Given the description of an element on the screen output the (x, y) to click on. 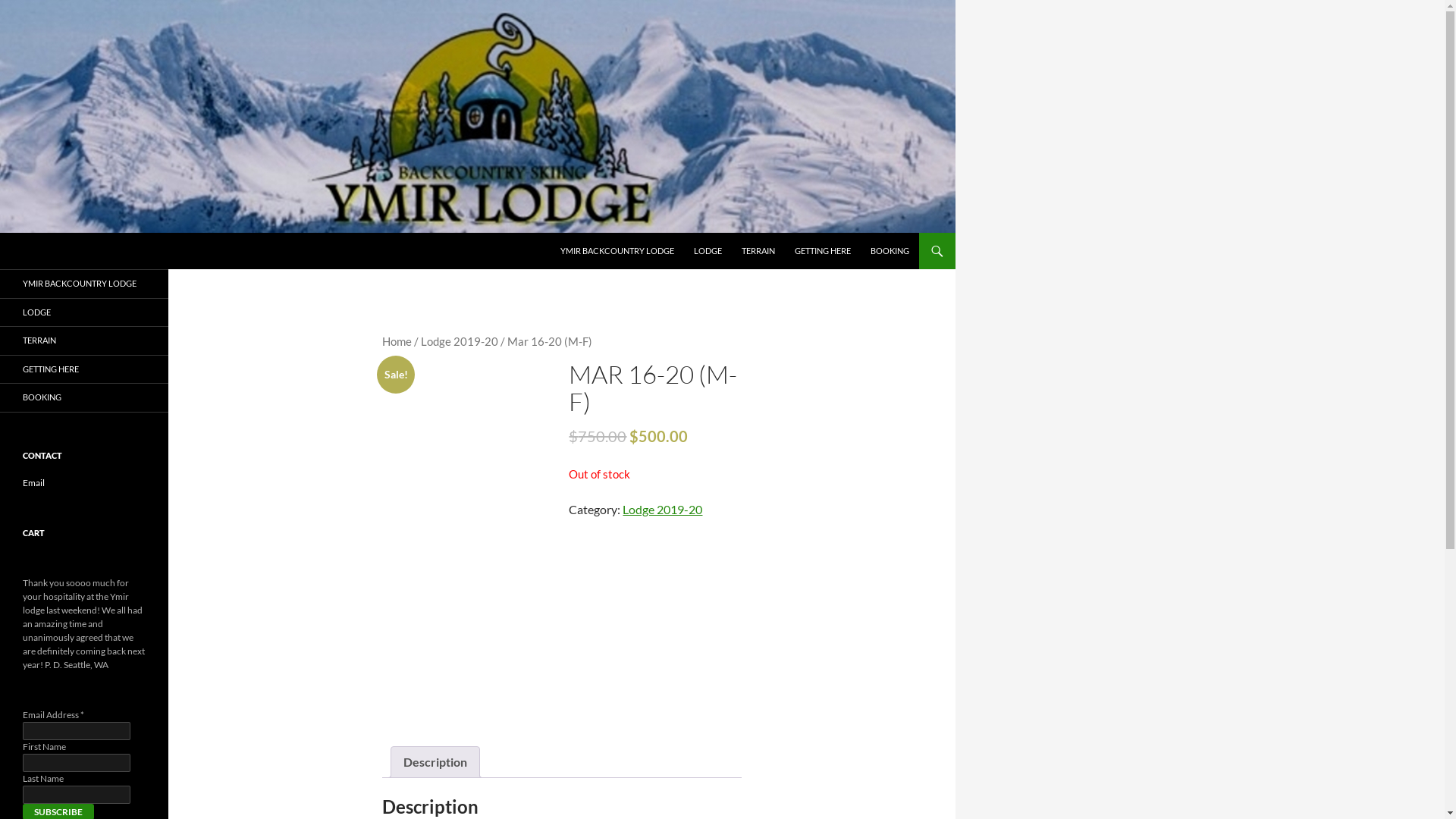
Ymir Backcountry Ski Lodge Element type: text (106, 250)
GETTING HERE Element type: text (84, 368)
GETTING HERE Element type: text (822, 250)
Search Element type: text (3, 232)
BOOKING Element type: text (889, 250)
LODGE Element type: text (84, 312)
Description Element type: text (435, 761)
YMIR BACKCOUNTRY LODGE Element type: text (617, 250)
Lodge 2019-20 Element type: text (459, 341)
BOOKING Element type: text (84, 397)
SKIP TO CONTENT Element type: text (559, 232)
TERRAIN Element type: text (84, 340)
Home Element type: text (396, 341)
Lodge 2019-20 Element type: text (662, 509)
YMIR BACKCOUNTRY LODGE Element type: text (84, 283)
LODGE Element type: text (707, 250)
Email Element type: text (33, 481)
TERRAIN Element type: text (758, 250)
